Given the description of an element on the screen output the (x, y) to click on. 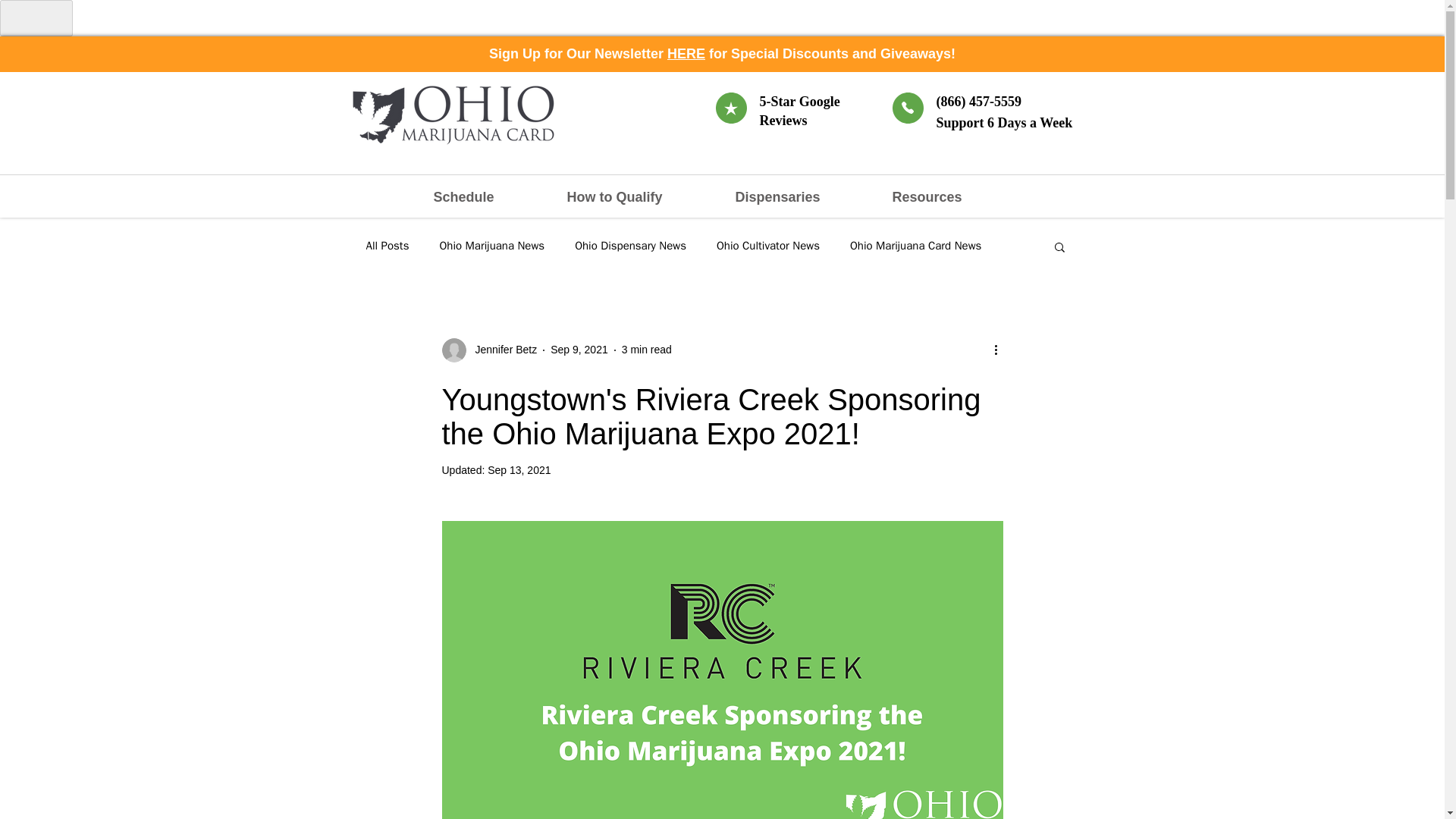
Jennifer Betz (501, 349)
Ohio Marijuana News (491, 246)
How to Qualify (638, 197)
HERE (685, 53)
Support 6 Days a Week  (1005, 122)
3 min read (646, 349)
5-Star Google Reviews (800, 110)
All Posts (387, 246)
Ohio Cultivator News (767, 246)
Schedule (488, 197)
Sep 13, 2021 (518, 469)
Sep 9, 2021 (579, 349)
Ohio Marijuana Card News (915, 246)
Ohio Dispensary News (630, 246)
